Given the description of an element on the screen output the (x, y) to click on. 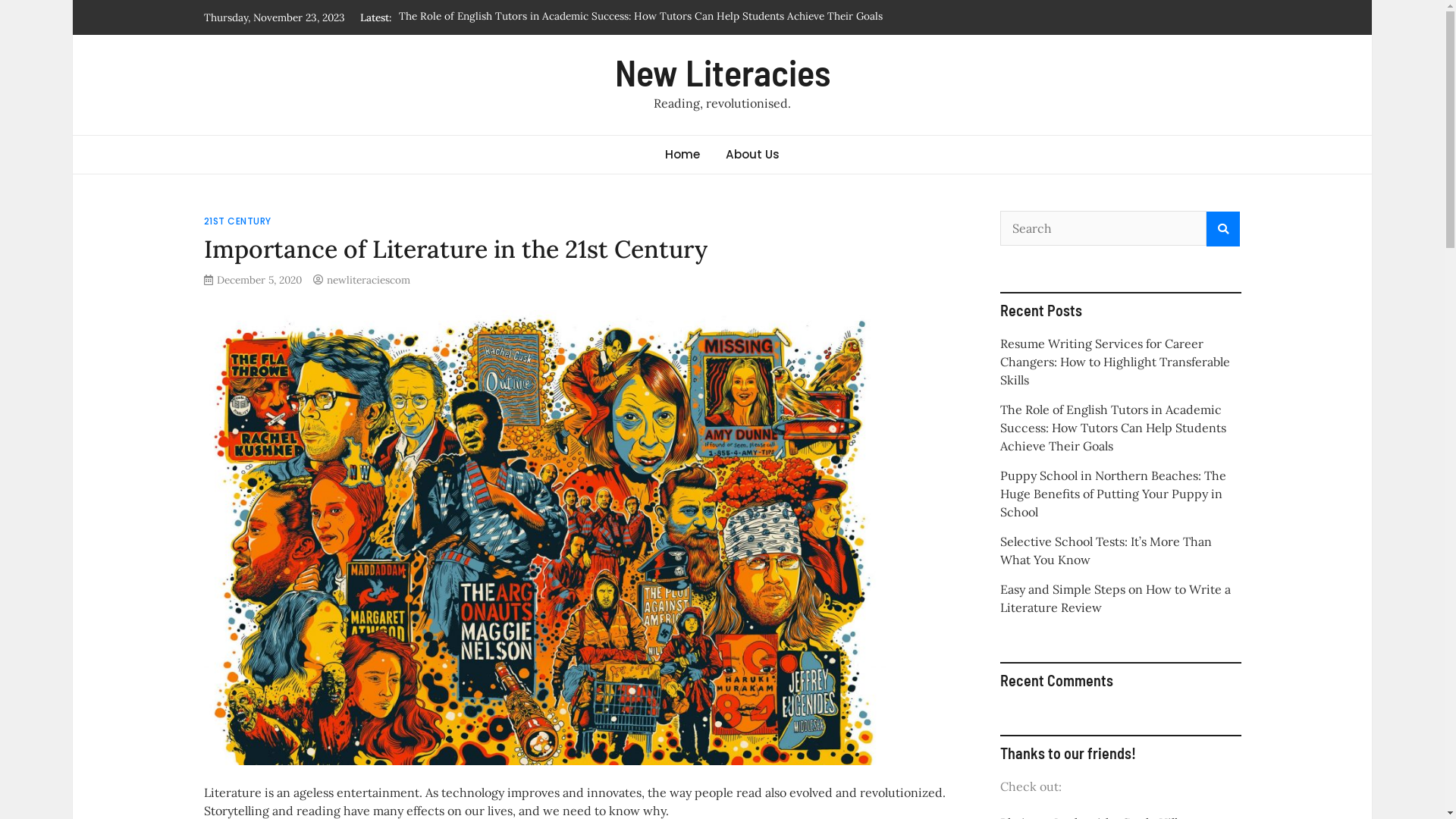
Home Element type: text (682, 154)
New Literacies Element type: text (721, 72)
21ST CENTURY Element type: text (236, 221)
About Us Element type: text (752, 154)
December 5, 2020 Element type: text (258, 279)
newliteraciescom Element type: text (367, 279)
Easy and Simple Steps on How to Write a Literature Review Element type: text (1114, 598)
